Given the description of an element on the screen output the (x, y) to click on. 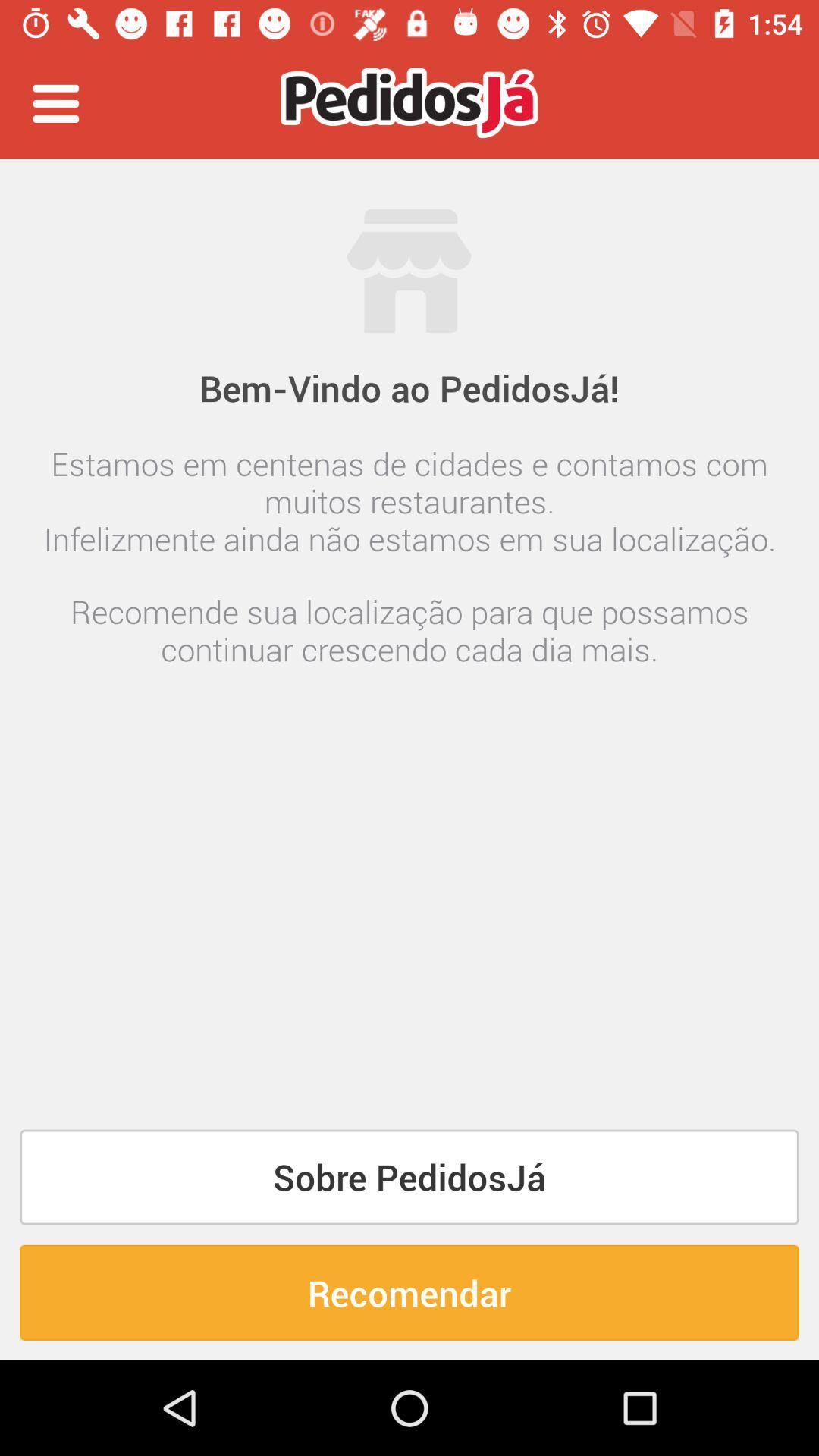
press the icon above the recomendar icon (409, 1177)
